Given the description of an element on the screen output the (x, y) to click on. 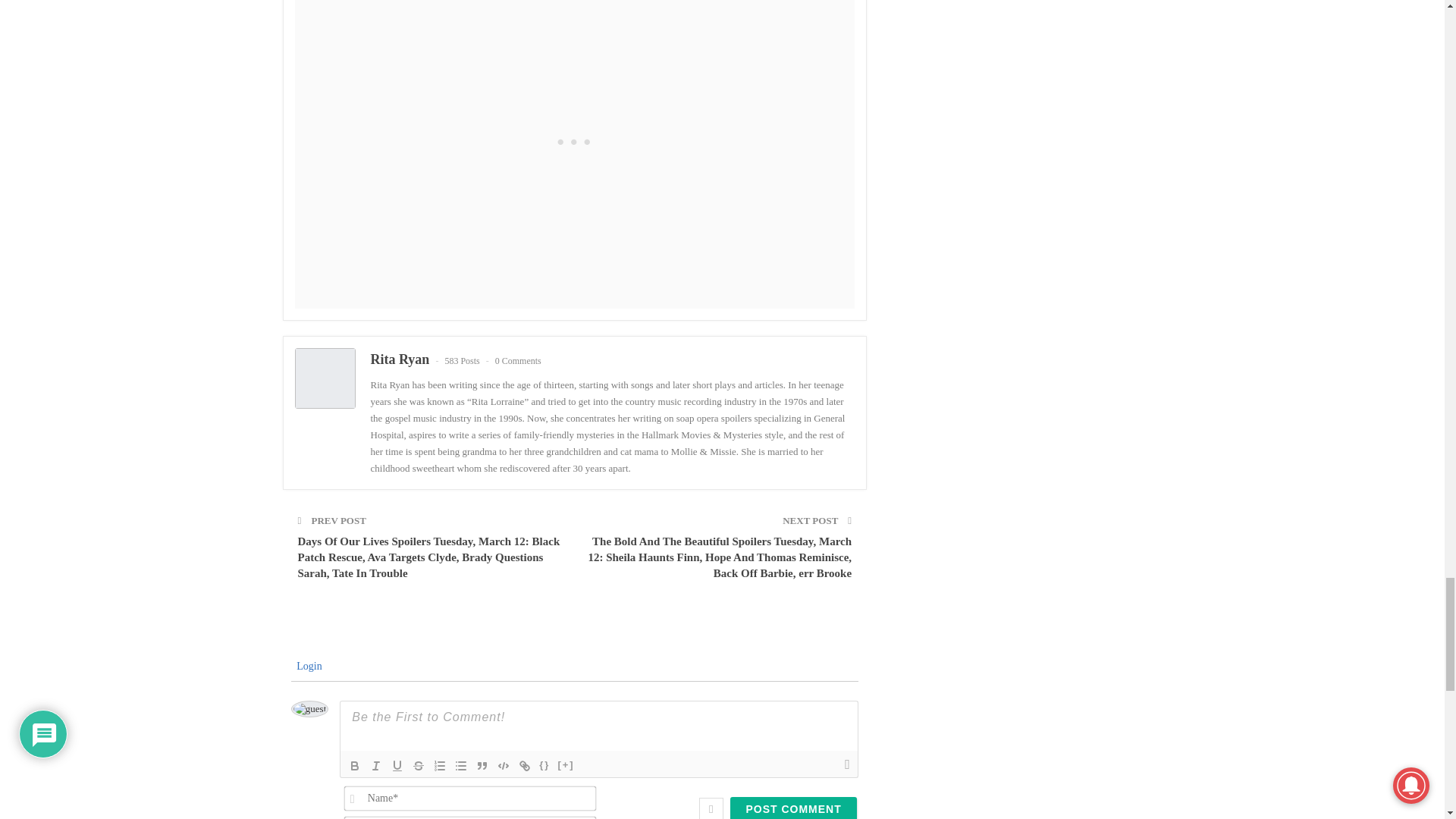
Ordered List (439, 765)
Unordered List (460, 765)
Underline (397, 765)
Italic (376, 765)
Post Comment (793, 807)
Code Block (503, 765)
Bold (354, 765)
Blockquote (482, 765)
Link (524, 765)
Strike (418, 765)
